Given the description of an element on the screen output the (x, y) to click on. 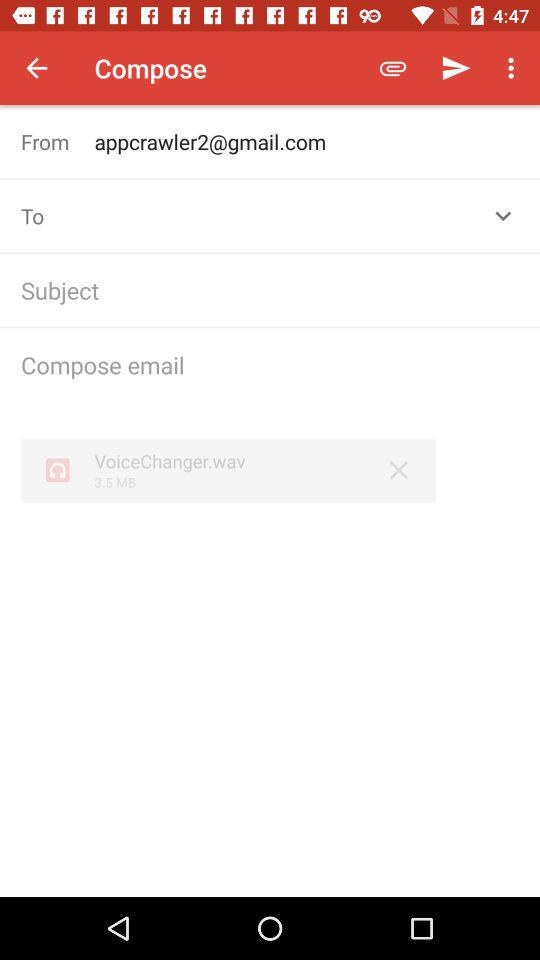
turn off the item next to voicechanger.wav icon (398, 469)
